Given the description of an element on the screen output the (x, y) to click on. 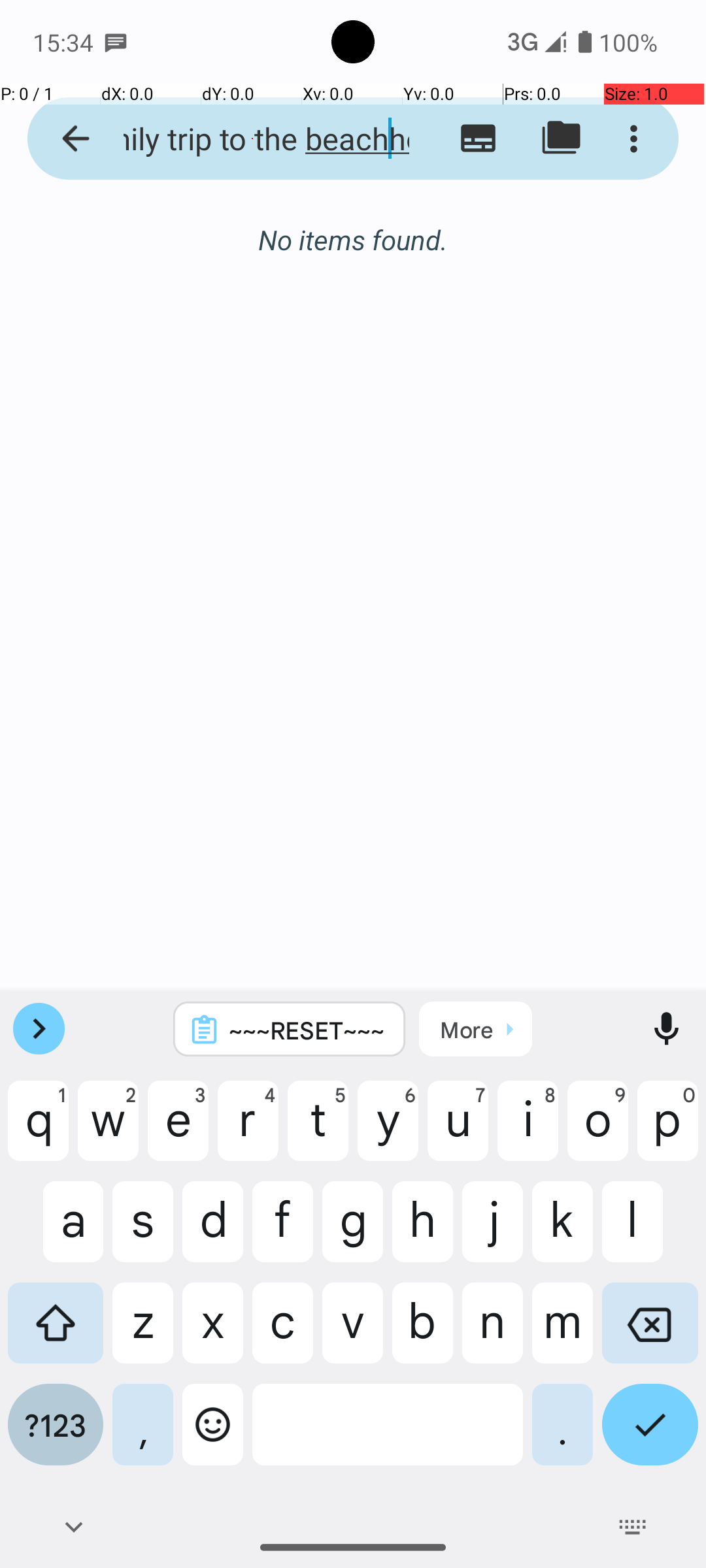
vacation pfamily trip to the beachhotos 2023 Element type: android.widget.EditText (252, 138)
Switch to folder view Element type: android.widget.Button (560, 138)
